Given the description of an element on the screen output the (x, y) to click on. 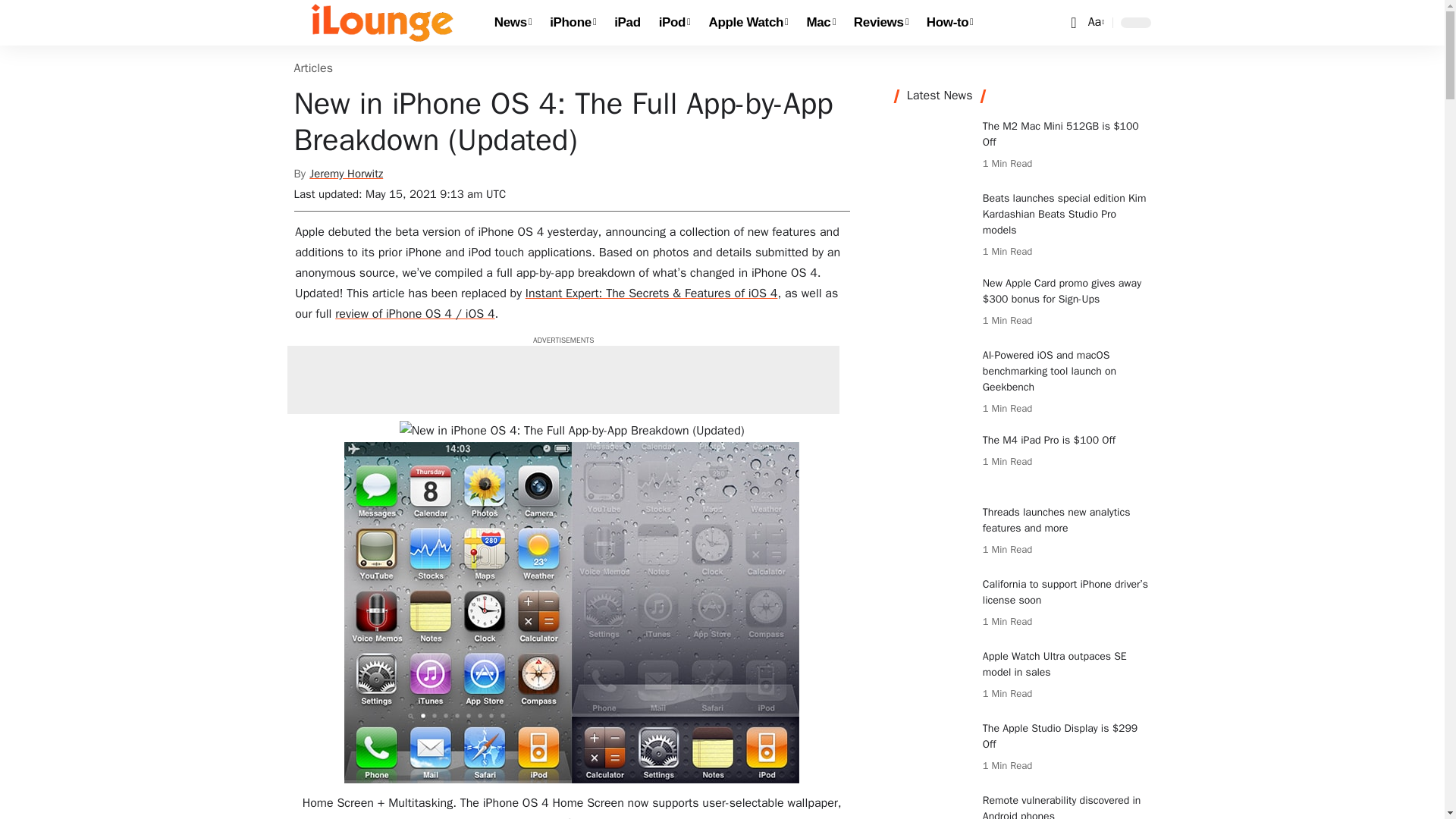
iPad (627, 22)
Mac (820, 22)
Reviews (880, 22)
How-to (949, 22)
Threads launches new analytics features and more (1094, 22)
iLounge (933, 532)
Apple Watch (382, 22)
